Given the description of an element on the screen output the (x, y) to click on. 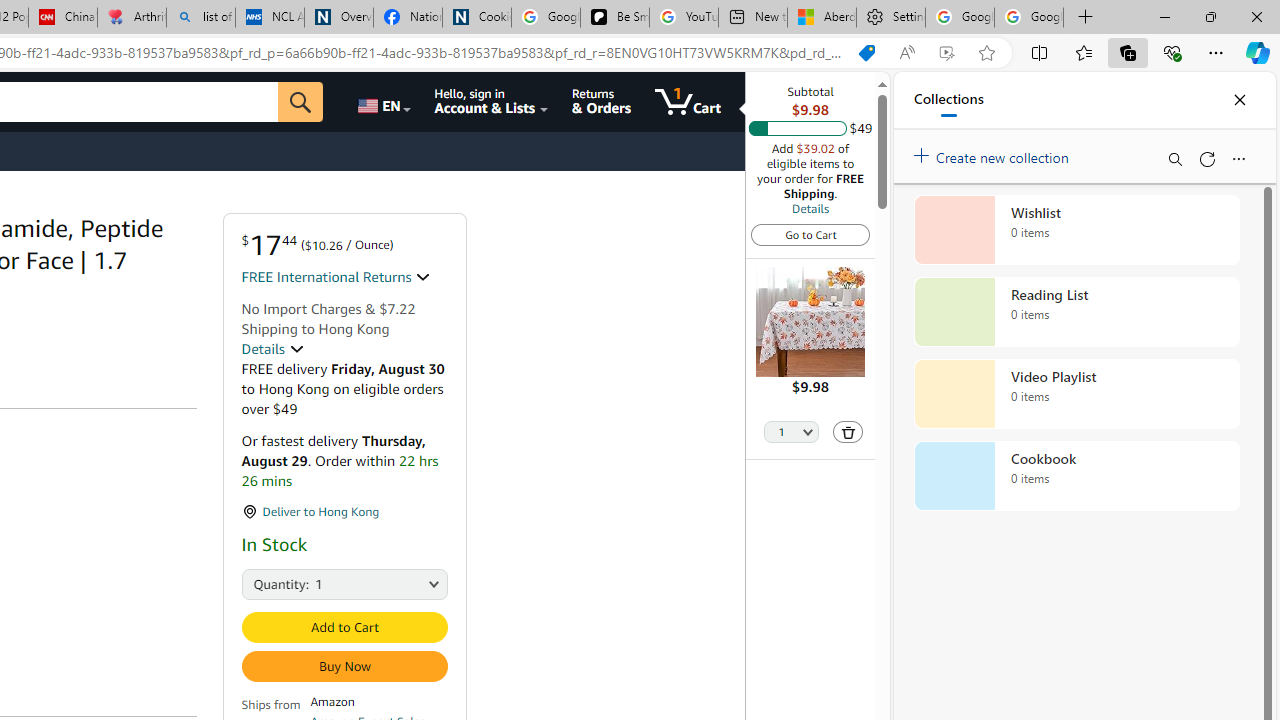
Video Playlist collection, 0 items (1076, 394)
Wishlist collection, 0 items (1076, 229)
Be Smart | creating Science videos | Patreon (614, 17)
Cookbook collection, 0 items (1076, 475)
